Given the description of an element on the screen output the (x, y) to click on. 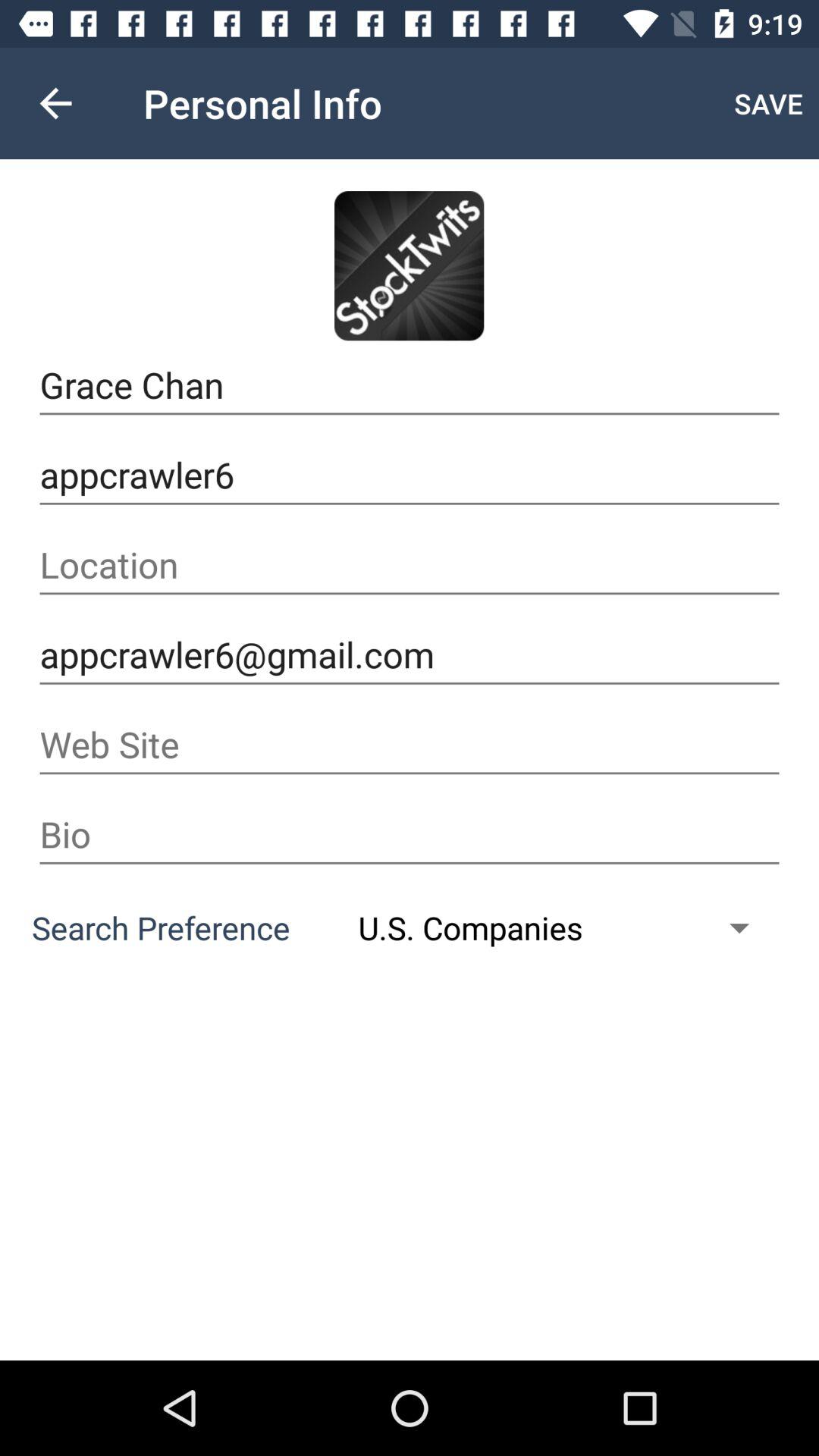
press icon above grace chan (55, 103)
